Given the description of an element on the screen output the (x, y) to click on. 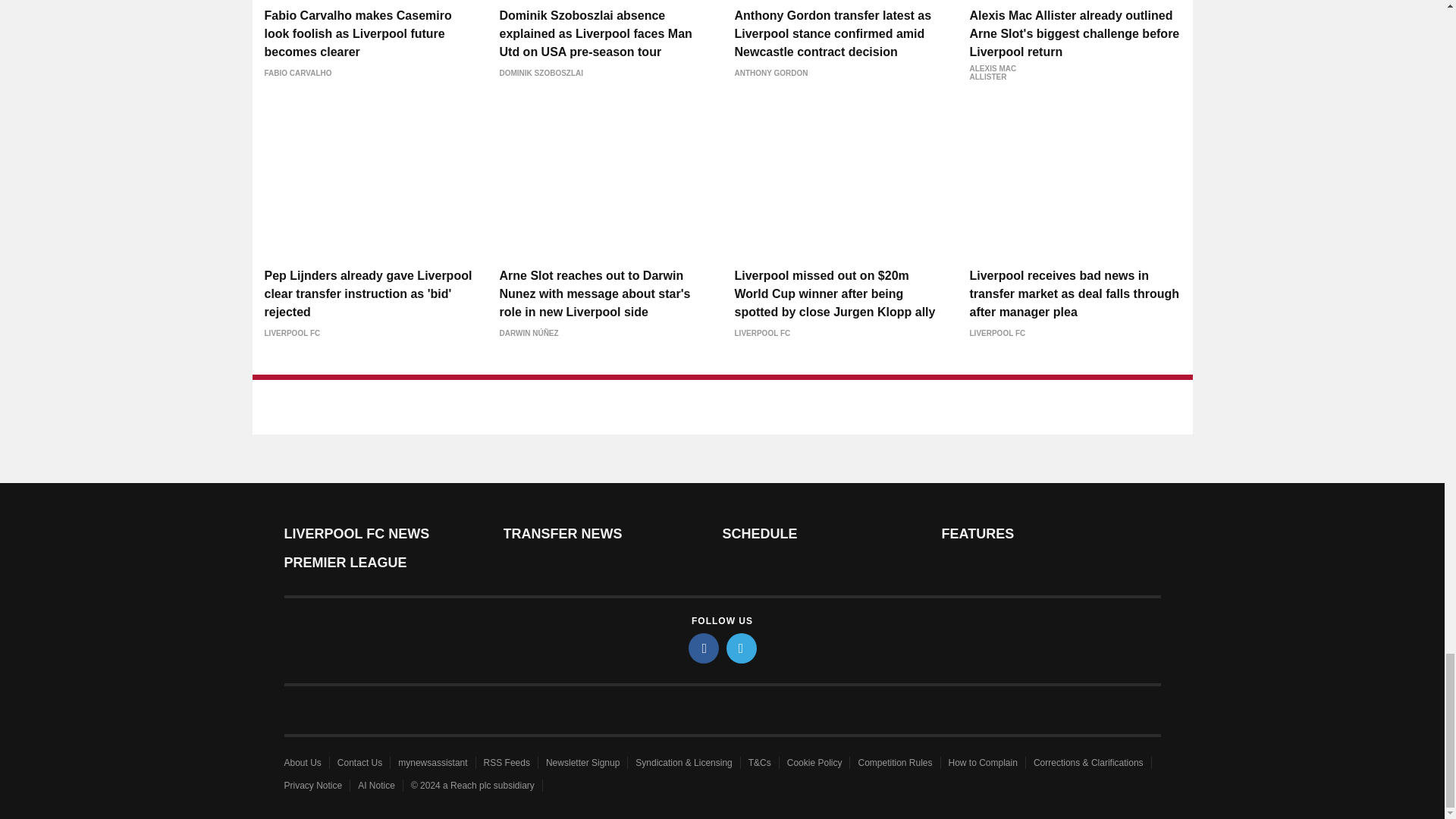
facebook (703, 648)
twitter (741, 648)
